Given the description of an element on the screen output the (x, y) to click on. 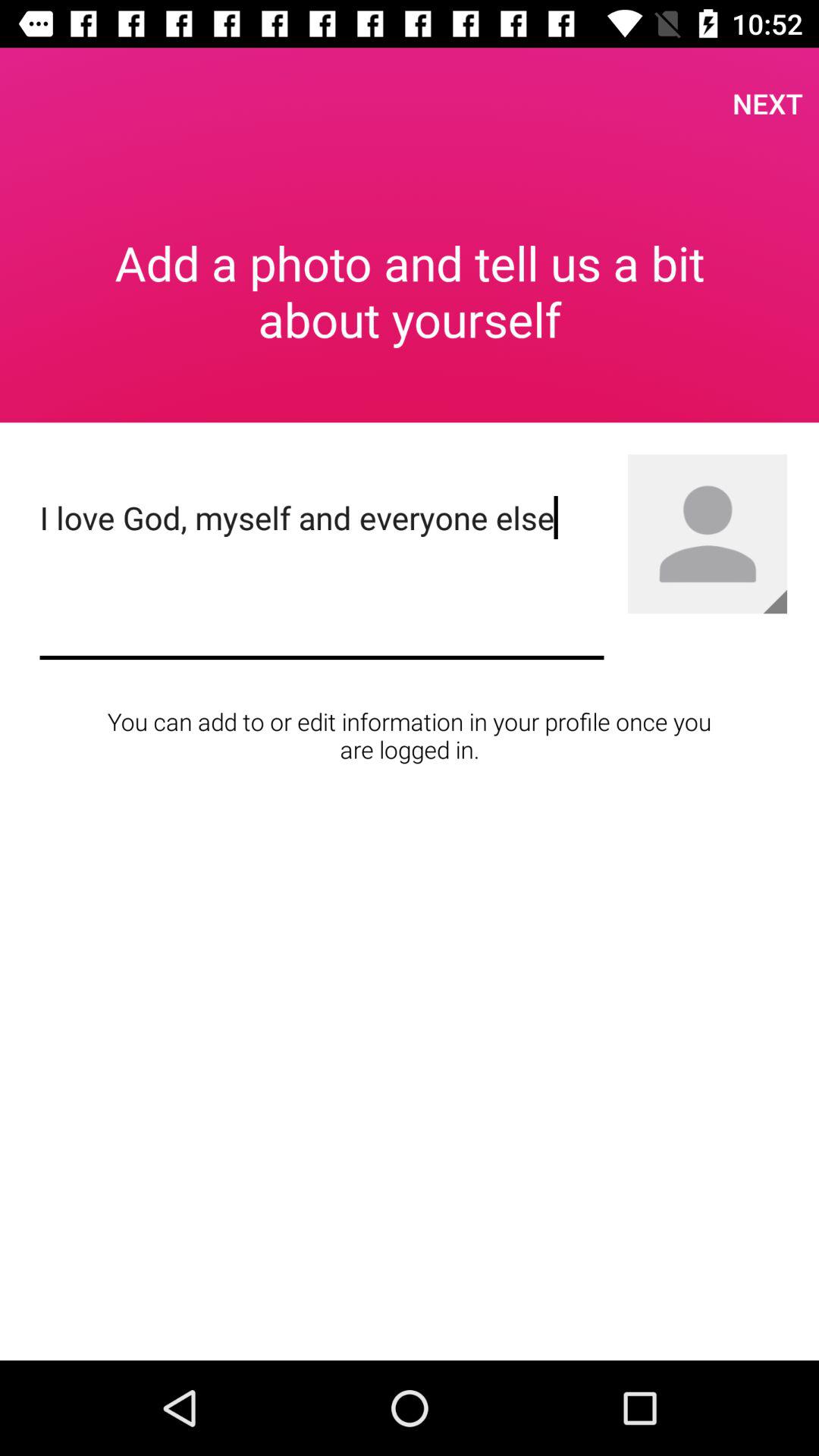
flip until the i love god icon (321, 574)
